Given the description of an element on the screen output the (x, y) to click on. 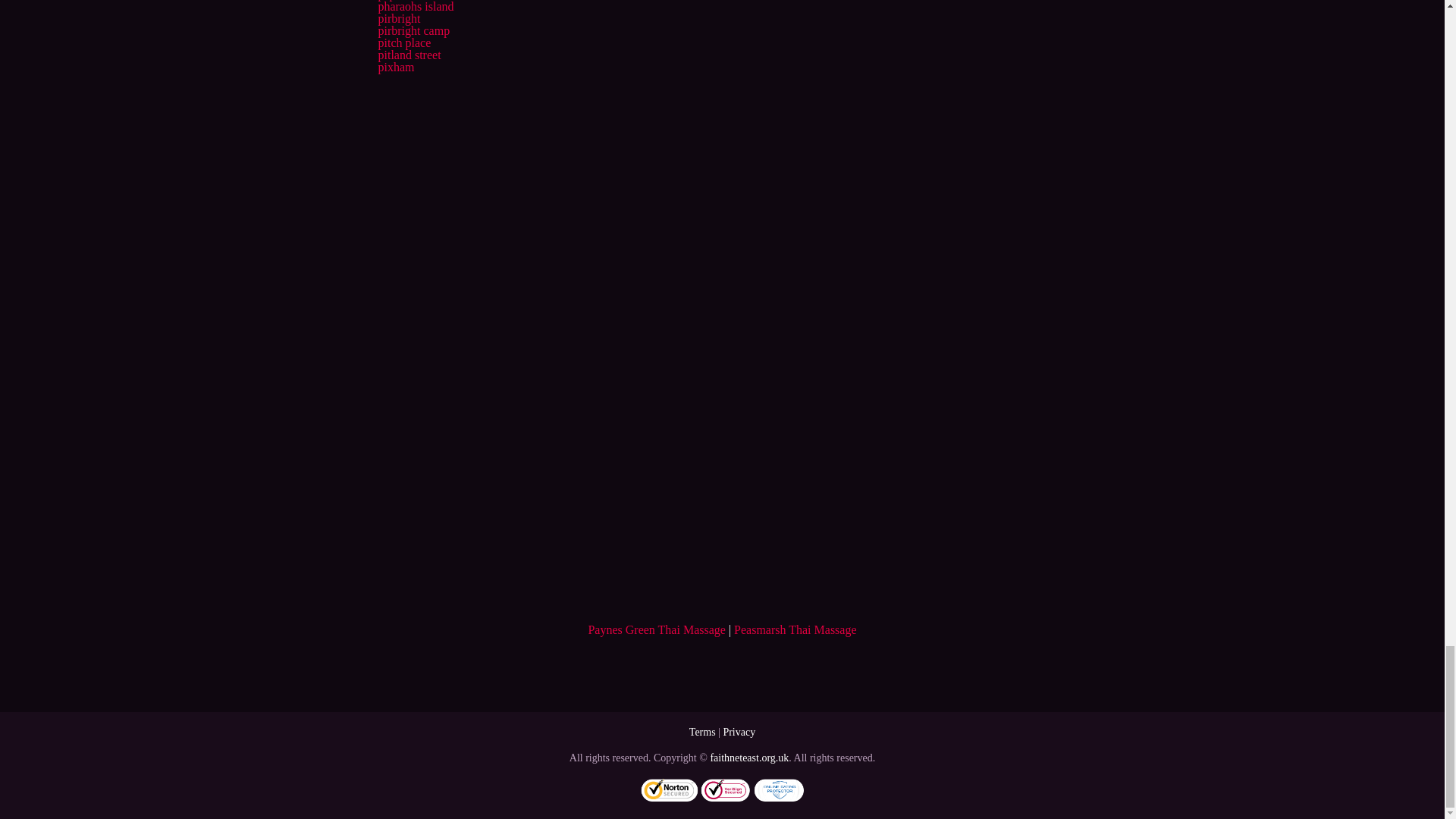
pirbright camp (413, 30)
Paynes Green Thai Massage (656, 629)
pirbright (398, 18)
peper harow (407, 0)
pitland street (409, 54)
faithneteast.org.uk (749, 757)
Terms (702, 731)
Terms (702, 731)
Privacy (738, 731)
pitch place (403, 42)
pharaohs island (414, 6)
Peasmarsh Thai Massage (794, 629)
Privacy (738, 731)
pixham (395, 66)
